Given the description of an element on the screen output the (x, y) to click on. 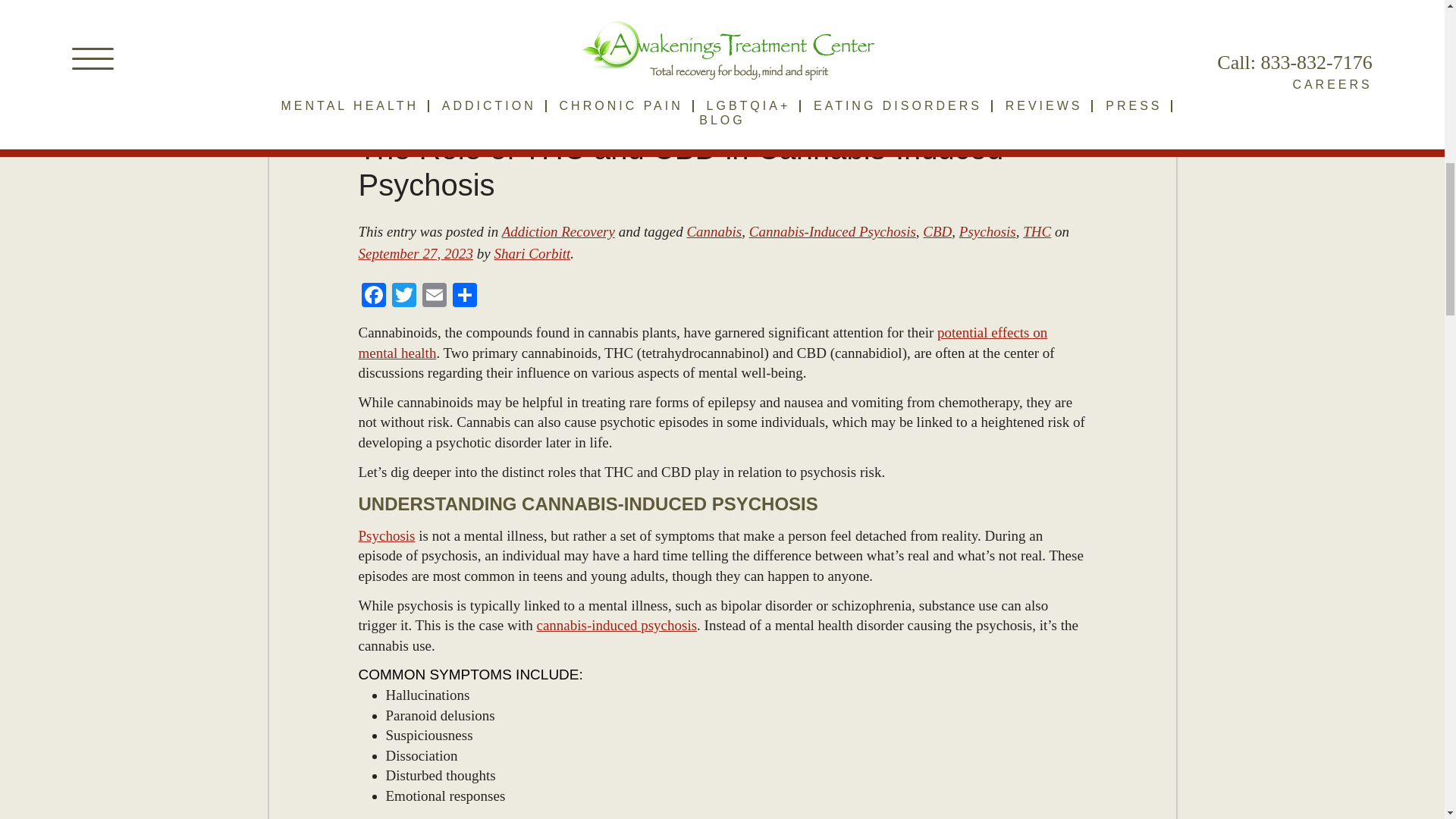
Email (433, 296)
Facebook (373, 296)
View all posts by Shari Corbitt (531, 253)
Twitter (403, 296)
12:01 pm (414, 253)
